Given the description of an element on the screen output the (x, y) to click on. 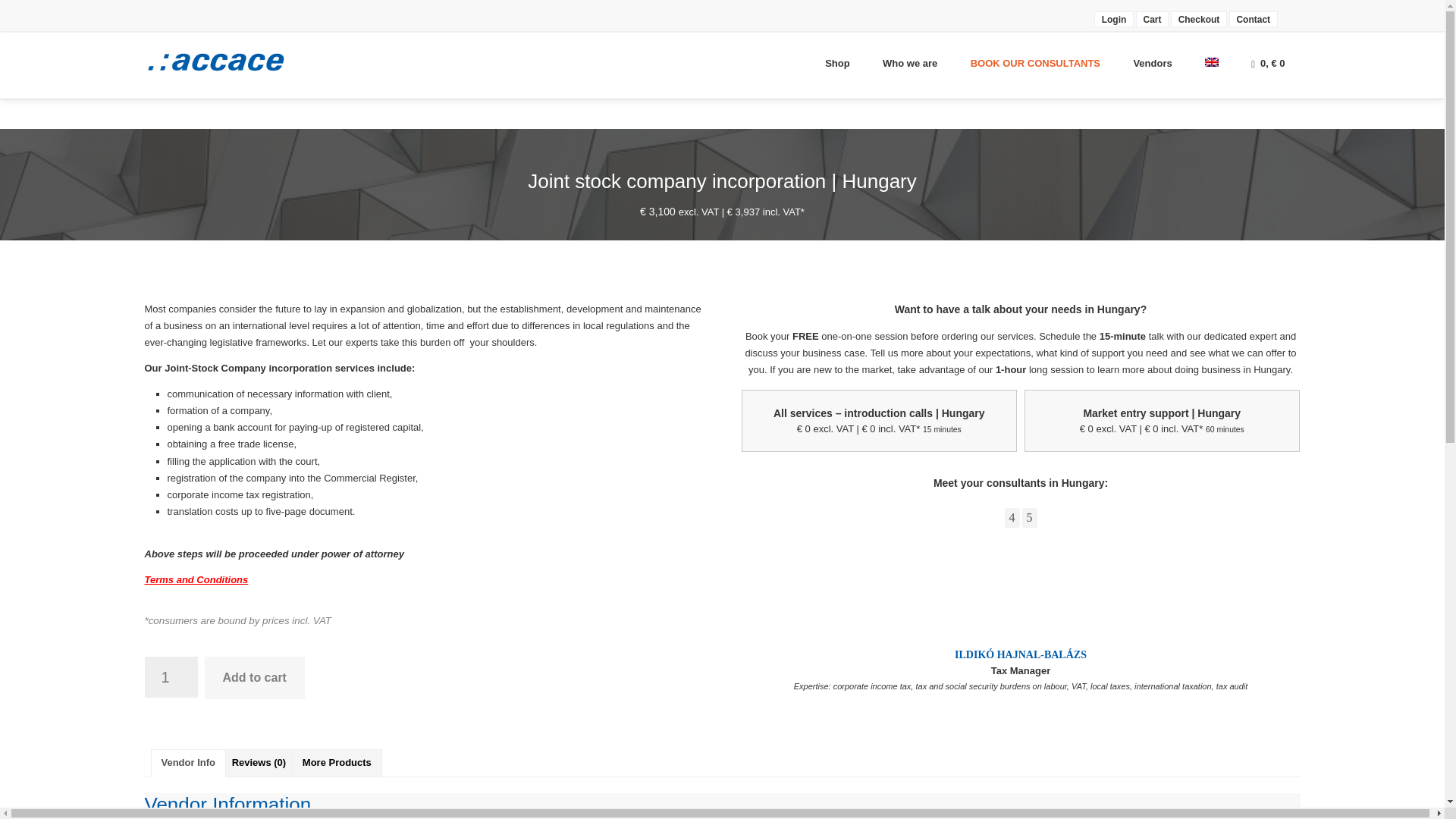
Cart (1152, 19)
Shop (836, 63)
Start shopping (1268, 64)
Add to cart (254, 677)
More Products (336, 763)
Vendor Info (188, 763)
Terms and Conditions (195, 579)
Vendors (1152, 63)
Accace eShop (227, 61)
Login (1113, 19)
Checkout (1198, 19)
1 (170, 676)
Who we are (909, 63)
Contact (1253, 19)
